Given the description of an element on the screen output the (x, y) to click on. 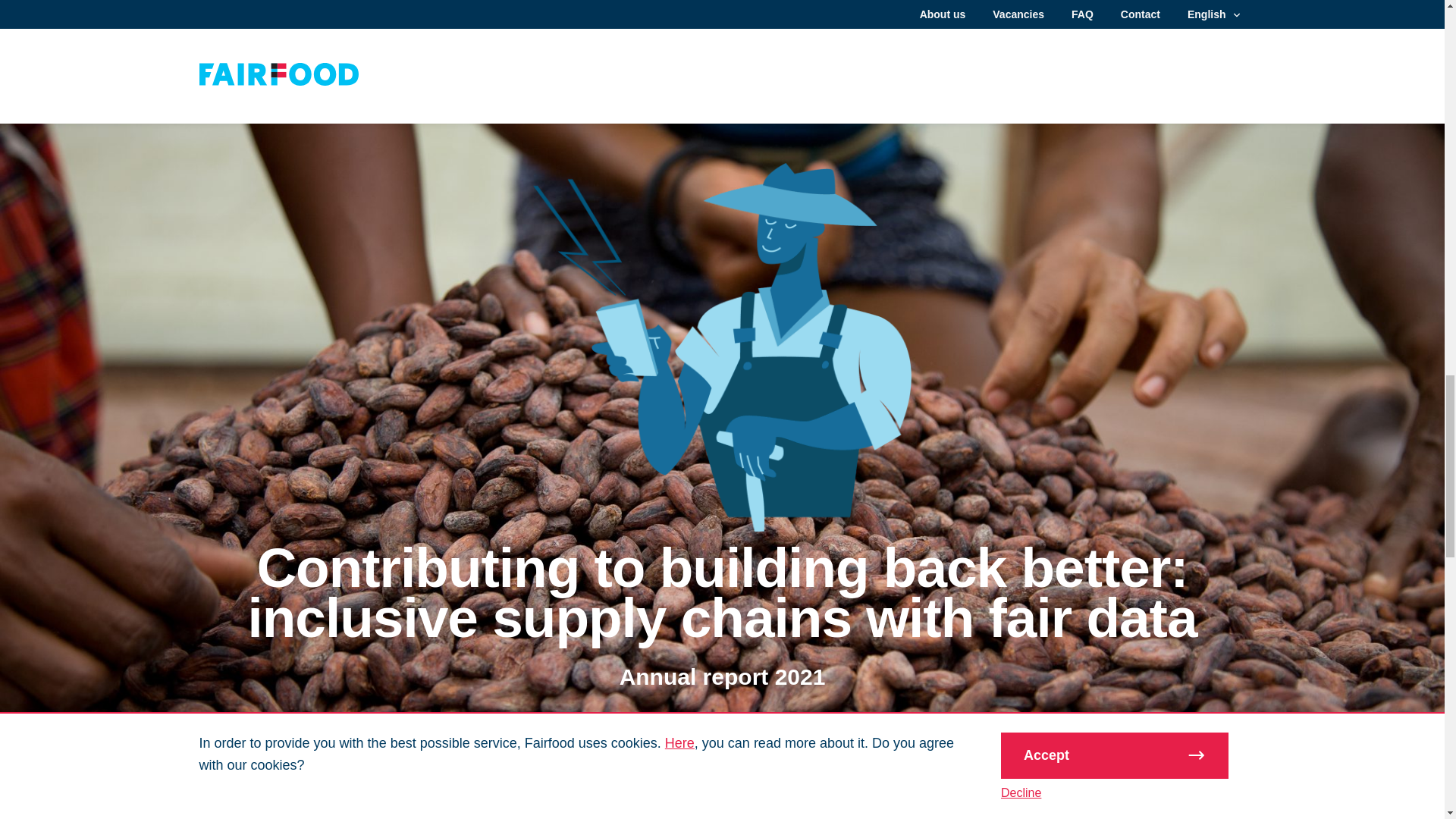
tells (400, 40)
